Given the description of an element on the screen output the (x, y) to click on. 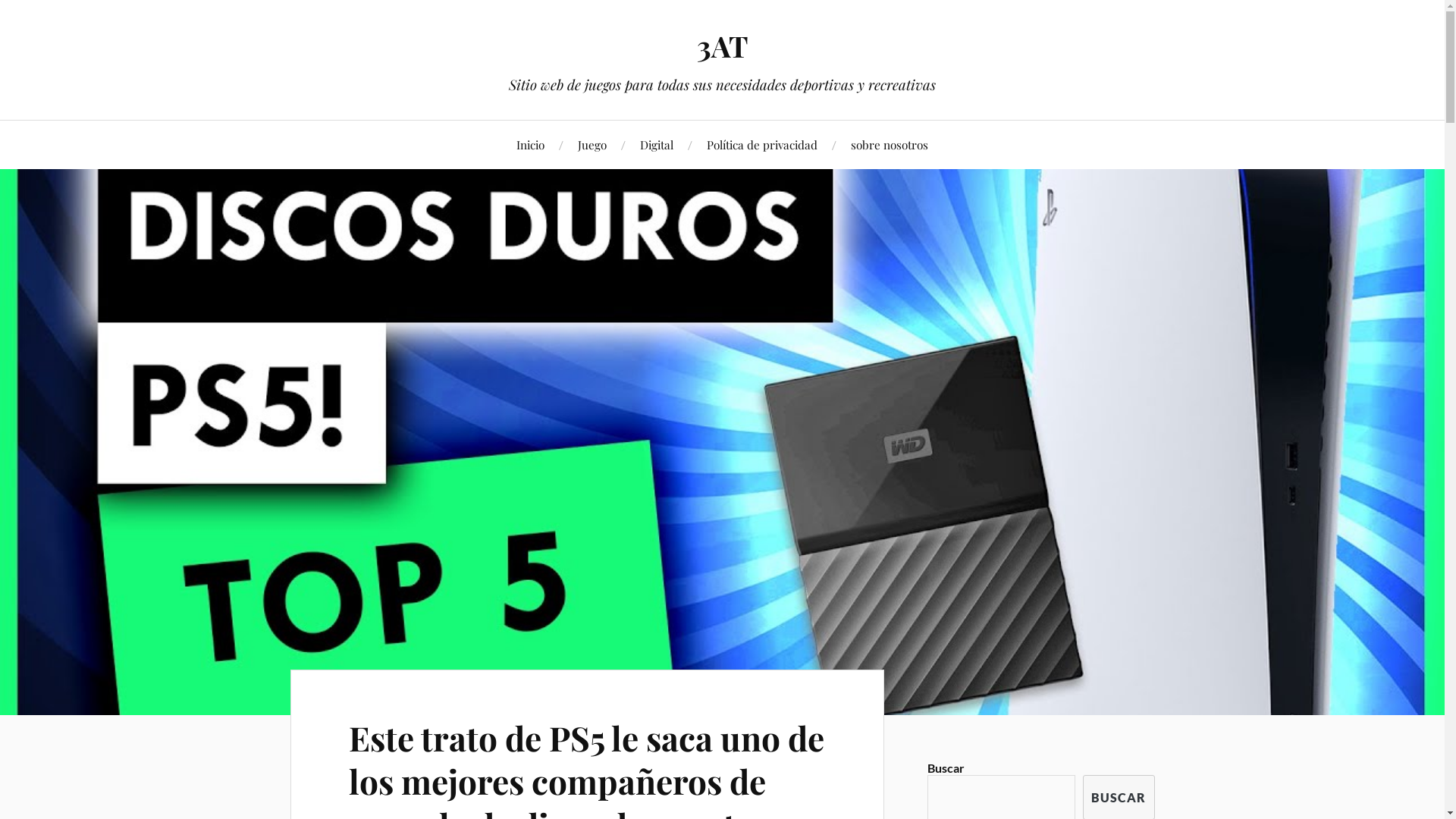
sobre nosotros Element type: text (889, 144)
Digital Element type: text (656, 144)
3AT Element type: text (721, 45)
Juego Element type: text (591, 144)
Inicio Element type: text (530, 144)
